Given the description of an element on the screen output the (x, y) to click on. 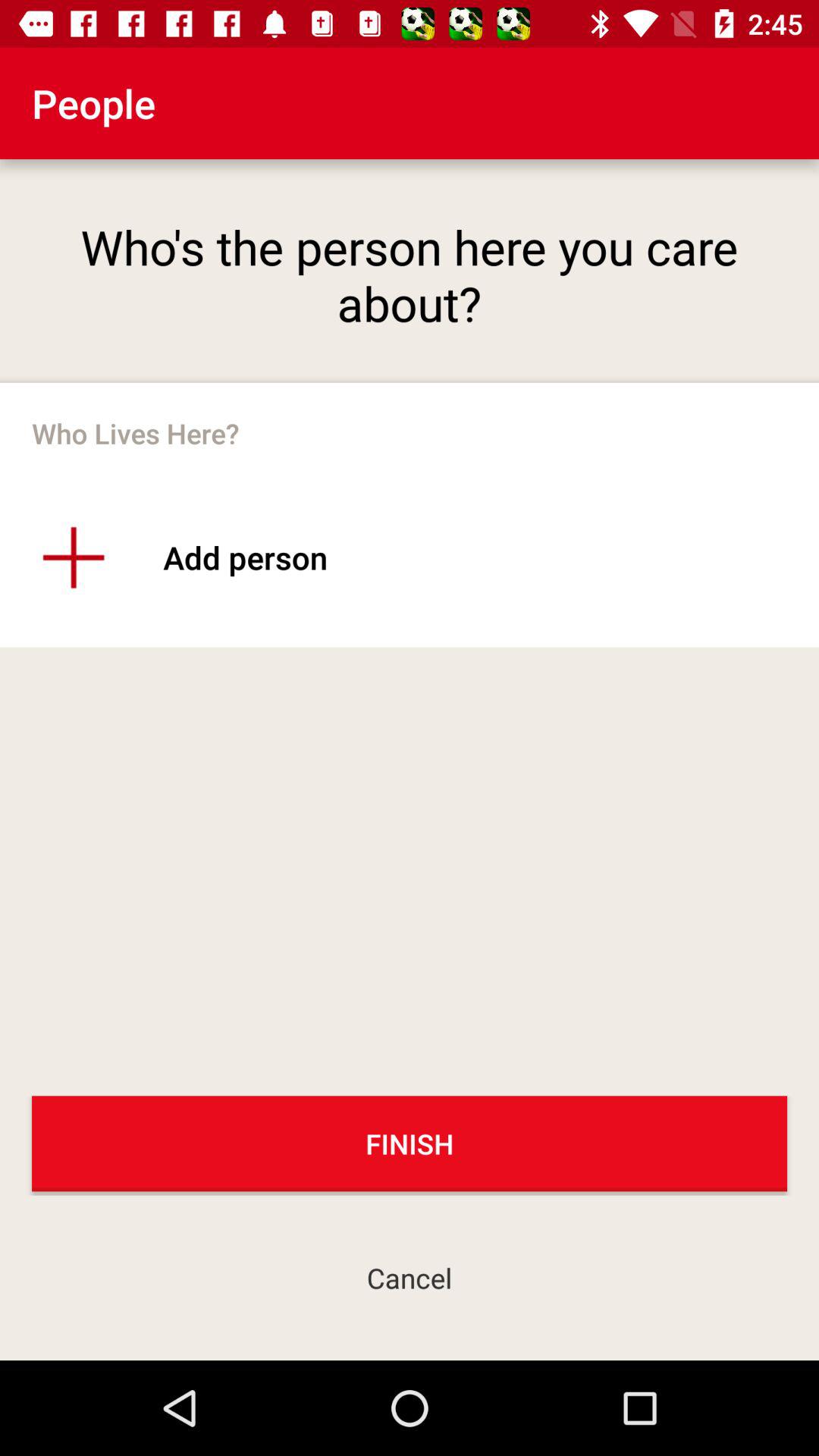
click item below the finish (409, 1277)
